Given the description of an element on the screen output the (x, y) to click on. 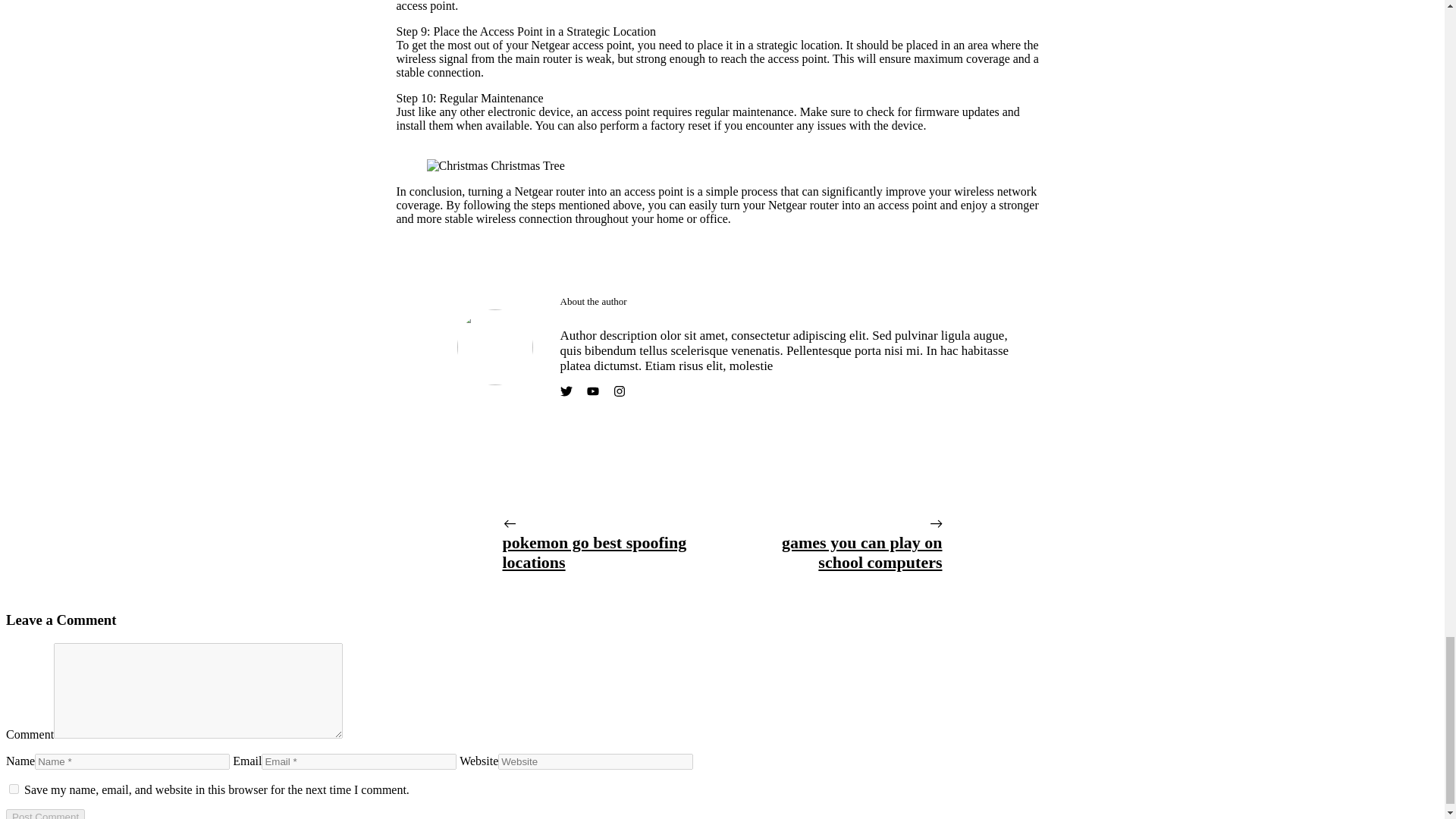
games you can play on school computers (861, 552)
testimonials-2 (494, 346)
pokemon go best spoofing locations (593, 552)
Christmas Christmas Tree (495, 165)
yes (13, 788)
